Given the description of an element on the screen output the (x, y) to click on. 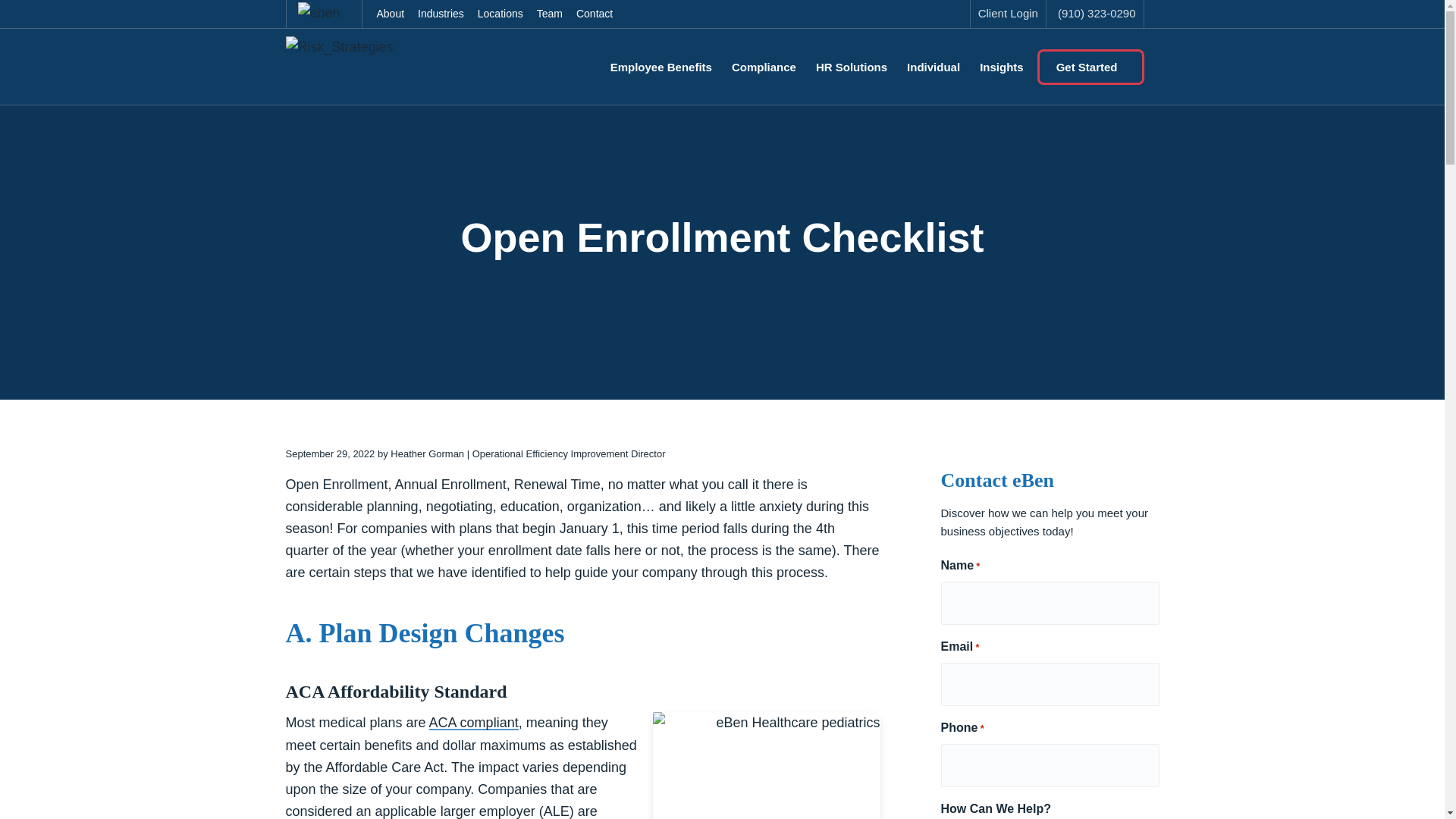
Industries (440, 14)
Employee Benefits (666, 65)
Contact (594, 14)
HR Solutions (851, 65)
Search (60, 18)
Client Login (1007, 13)
Team (549, 14)
Compliance (764, 65)
About (390, 14)
Locations (499, 14)
